Given the description of an element on the screen output the (x, y) to click on. 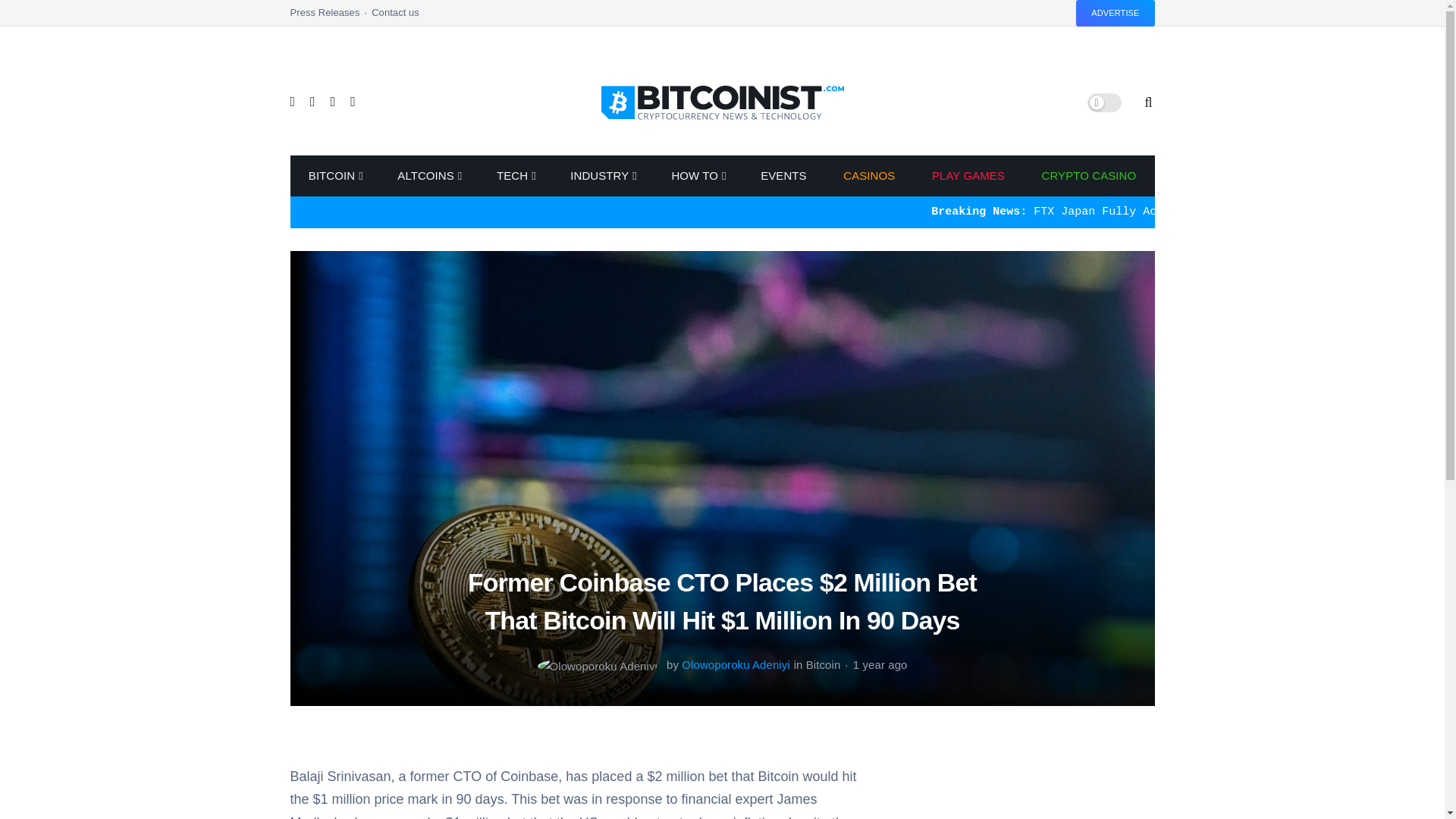
INDUSTRY (601, 175)
Press Releases (330, 17)
ADVERTISE (1114, 13)
TECH (515, 175)
Contact us (395, 17)
BITCOIN (333, 175)
HOW TO (697, 175)
ALTCOINS (428, 175)
